Given the description of an element on the screen output the (x, y) to click on. 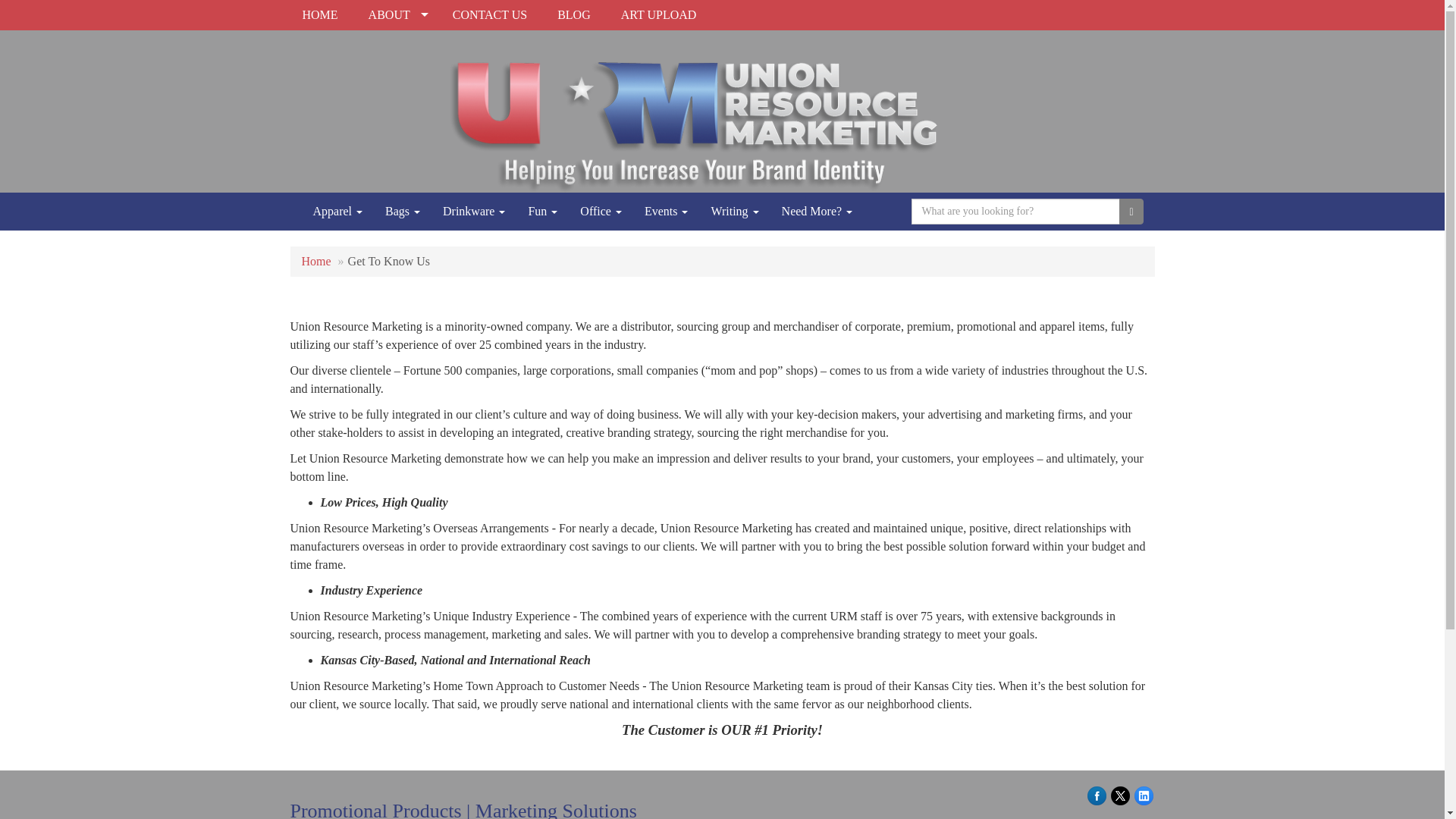
CONTACT US (492, 15)
ART UPLOAD (661, 15)
Bags (402, 211)
HOME (322, 15)
BLOG (576, 15)
Apparel (337, 211)
Visit us on Facebook (1096, 793)
Visit us on LinkedIn (1143, 793)
Visit us on Twitter (1119, 793)
ABOUT (398, 15)
